Given the description of an element on the screen output the (x, y) to click on. 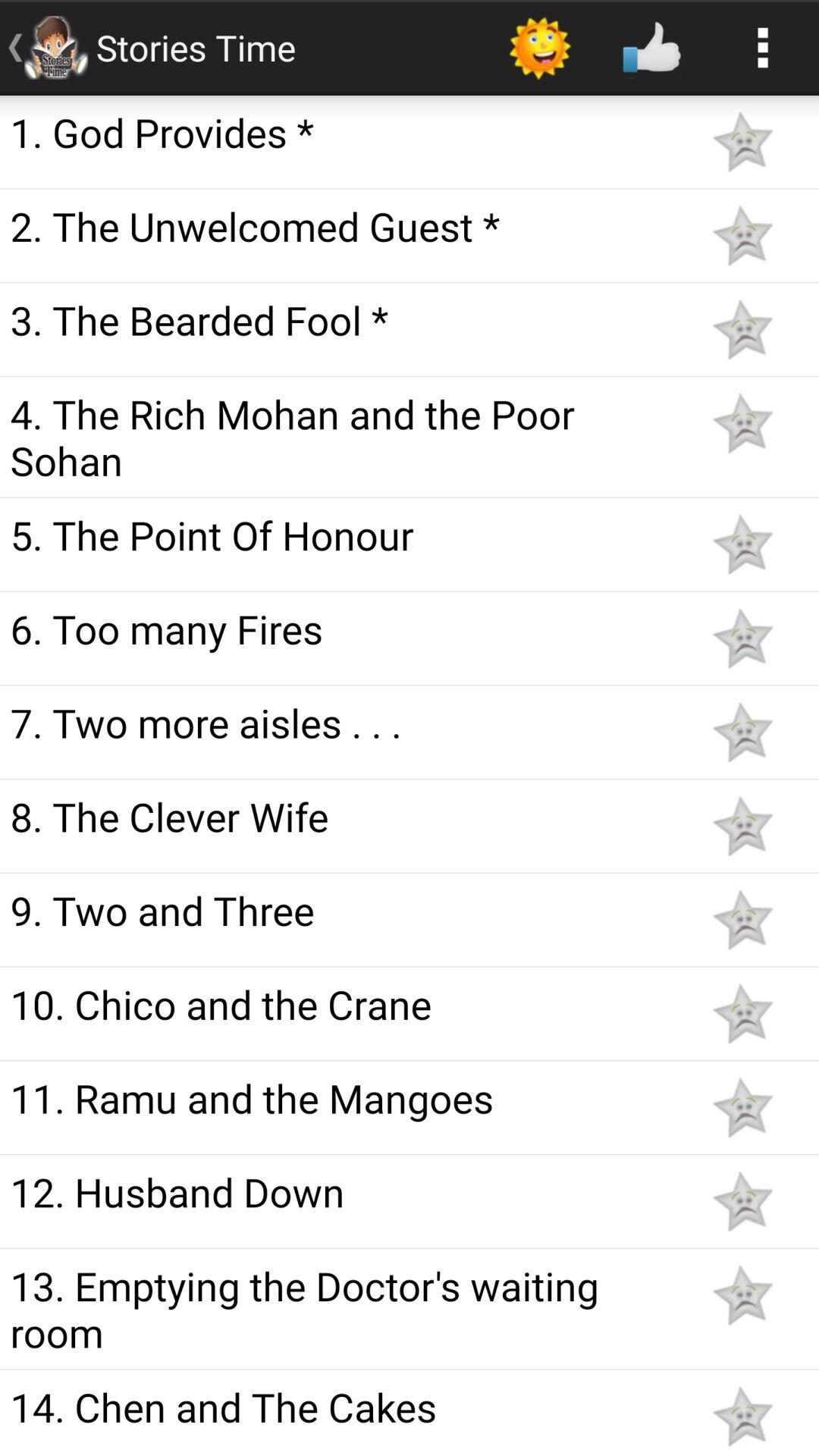
favorite (742, 638)
